Given the description of an element on the screen output the (x, y) to click on. 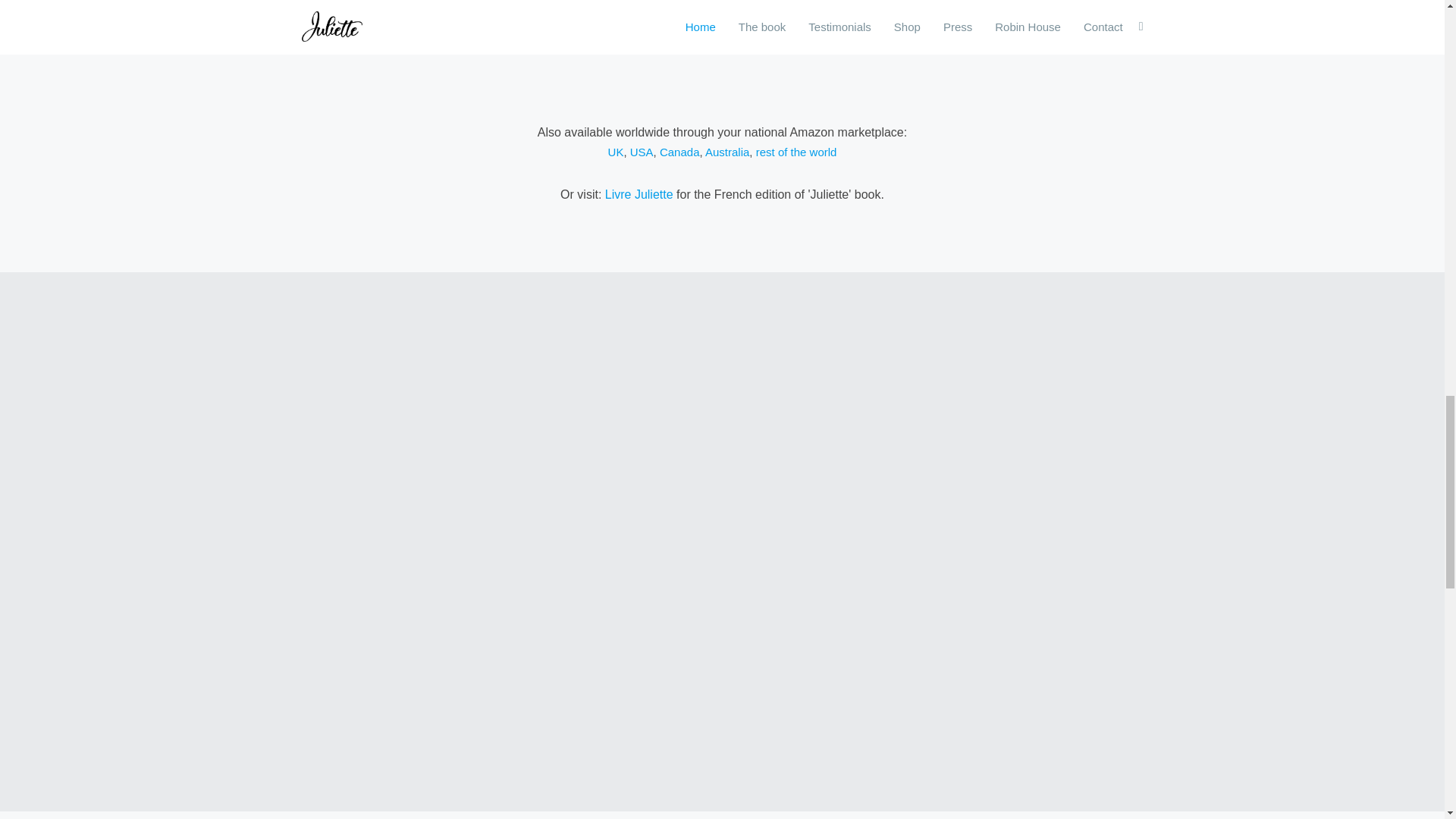
Canada (679, 151)
rest of the world (796, 151)
UK (616, 151)
Livre Juliette (638, 194)
USA (641, 151)
Australia (726, 151)
